Given the description of an element on the screen output the (x, y) to click on. 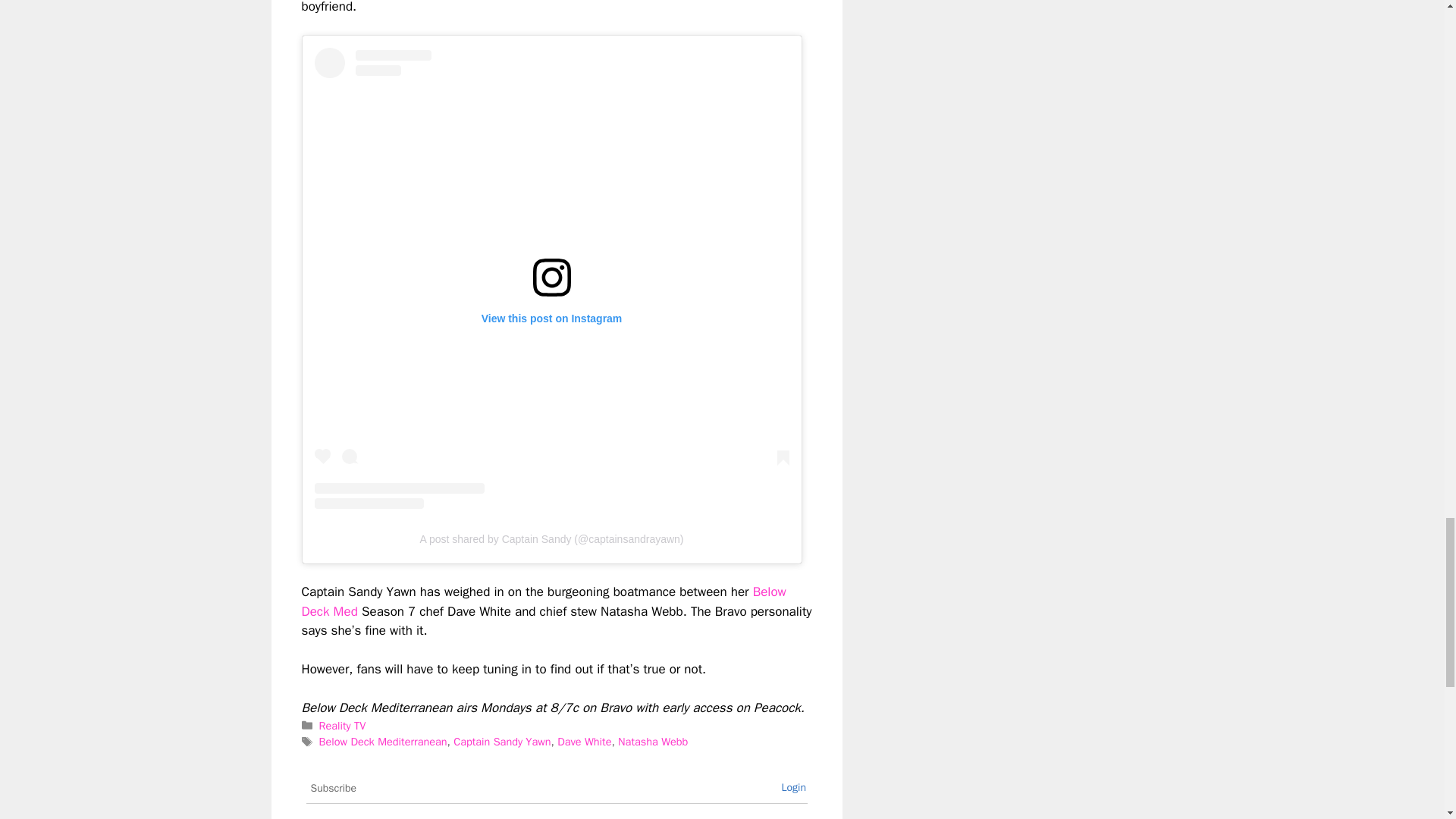
Natasha Webb (652, 741)
Captain Sandy Yawn (501, 741)
Login (793, 787)
Reality TV (342, 725)
Dave White (584, 741)
Below Deck Mediterranean (382, 741)
Below Deck Med (543, 601)
